Given the description of an element on the screen output the (x, y) to click on. 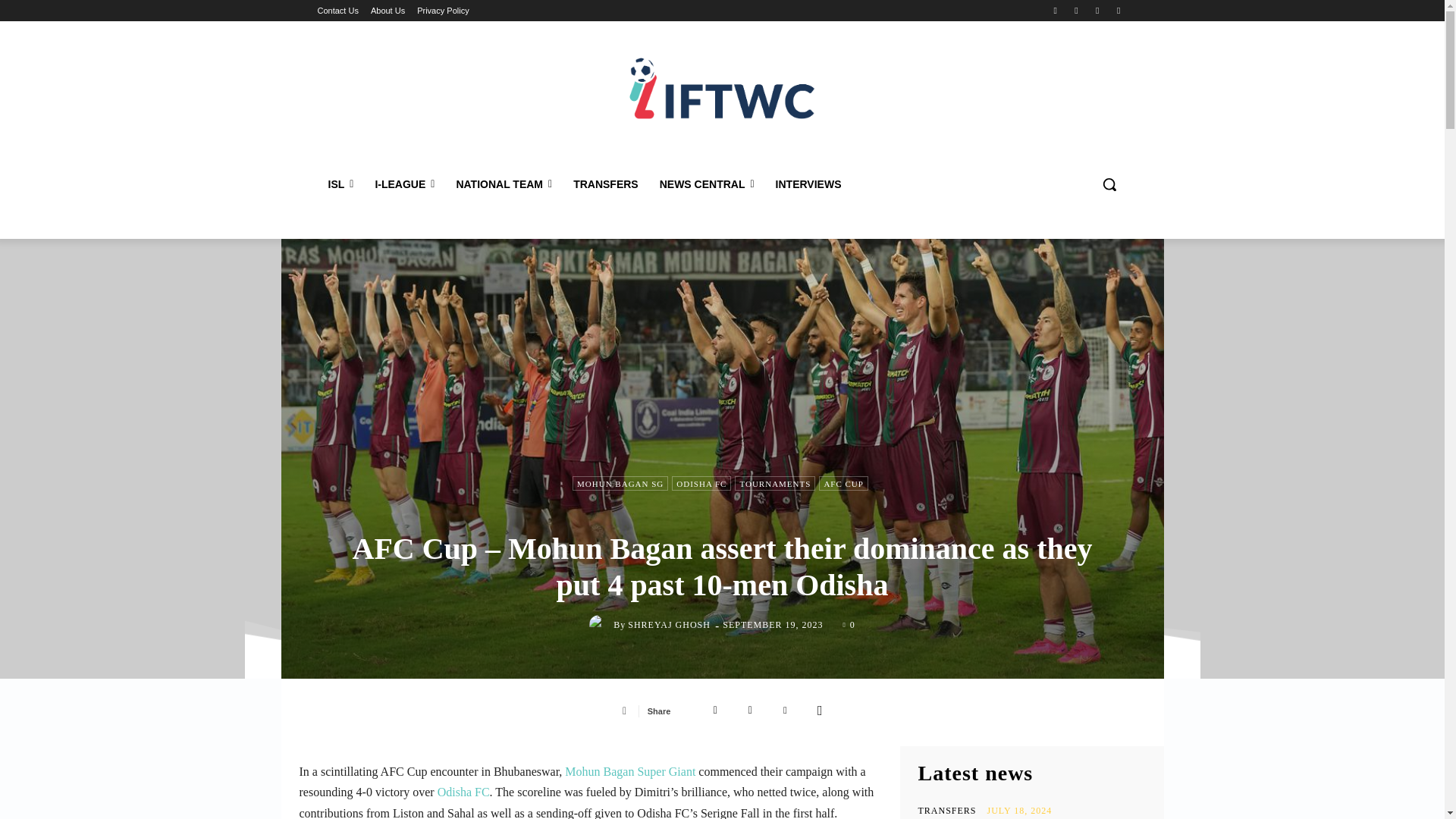
Facebook (1055, 9)
Youtube (1117, 9)
Instagram (1075, 9)
Twitter (1097, 9)
